Given the description of an element on the screen output the (x, y) to click on. 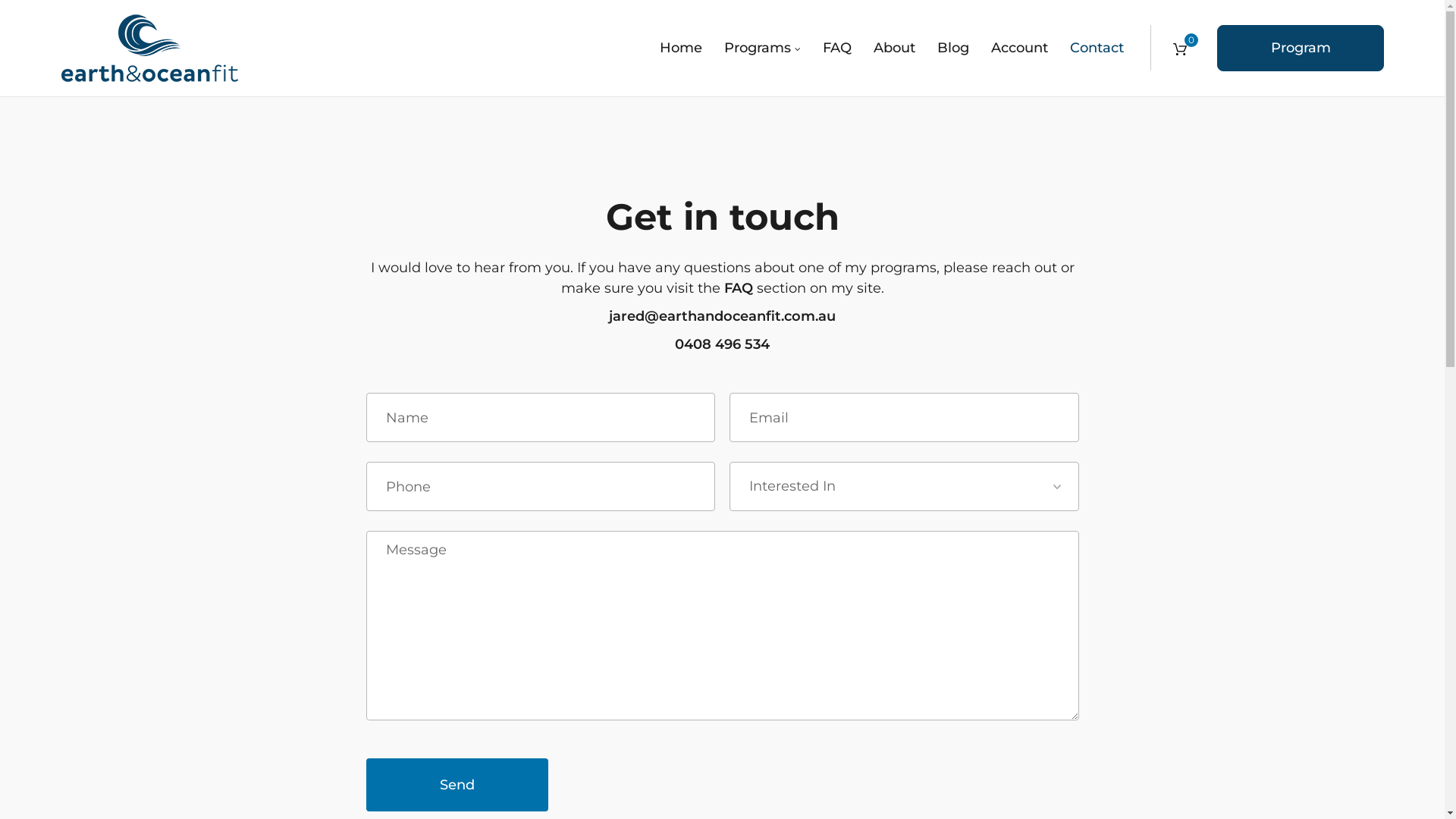
Account Element type: text (1019, 48)
Contact Element type: text (1101, 48)
About Element type: text (894, 48)
Program Element type: text (1300, 48)
0 Element type: text (1179, 47)
Home Element type: text (685, 48)
Send Element type: text (456, 784)
jared@earthandoceanfit.com.au Element type: text (721, 315)
FAQ Element type: text (737, 287)
Programs Element type: text (762, 48)
0408 496 534 Element type: text (721, 343)
Blog Element type: text (953, 48)
FAQ Element type: text (836, 48)
